Given the description of an element on the screen output the (x, y) to click on. 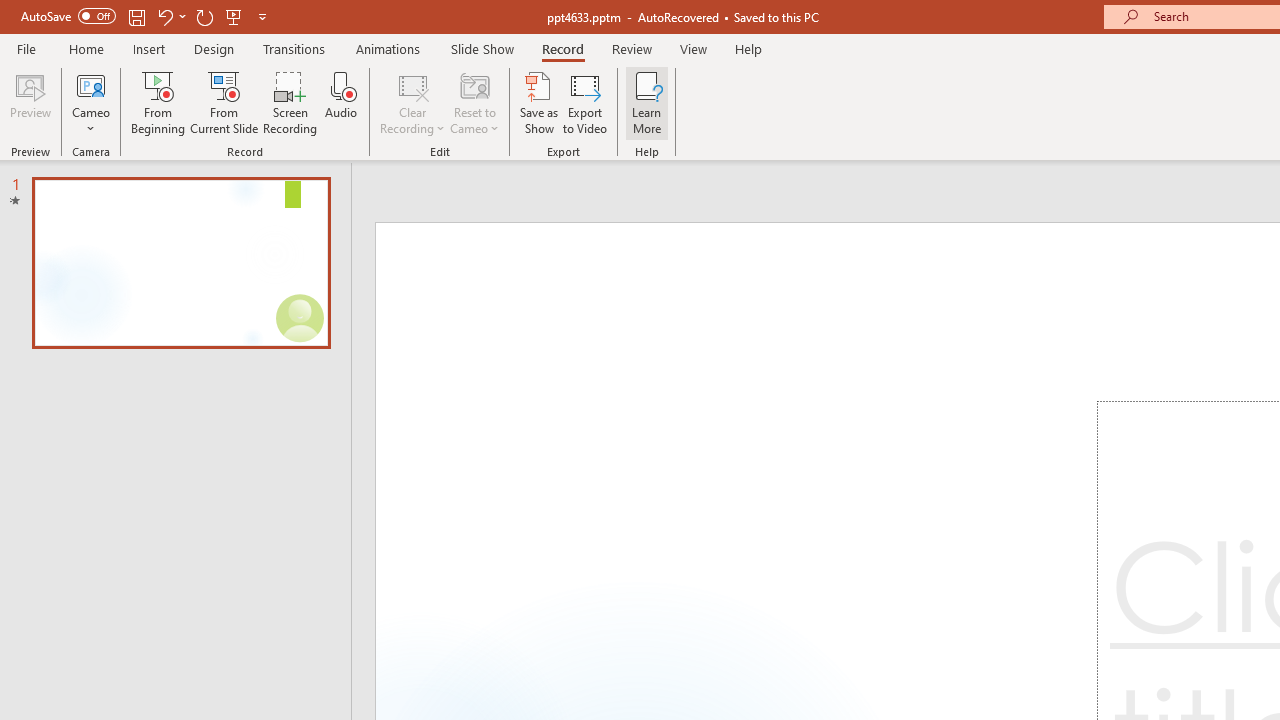
Home (86, 48)
Clear Recording (412, 102)
Redo (204, 15)
From Beginning... (158, 102)
Help (748, 48)
File Tab (26, 48)
Reset to Cameo (474, 102)
Design (214, 48)
Cameo (91, 84)
From Beginning (234, 15)
AutoSave (68, 16)
